Given the description of an element on the screen output the (x, y) to click on. 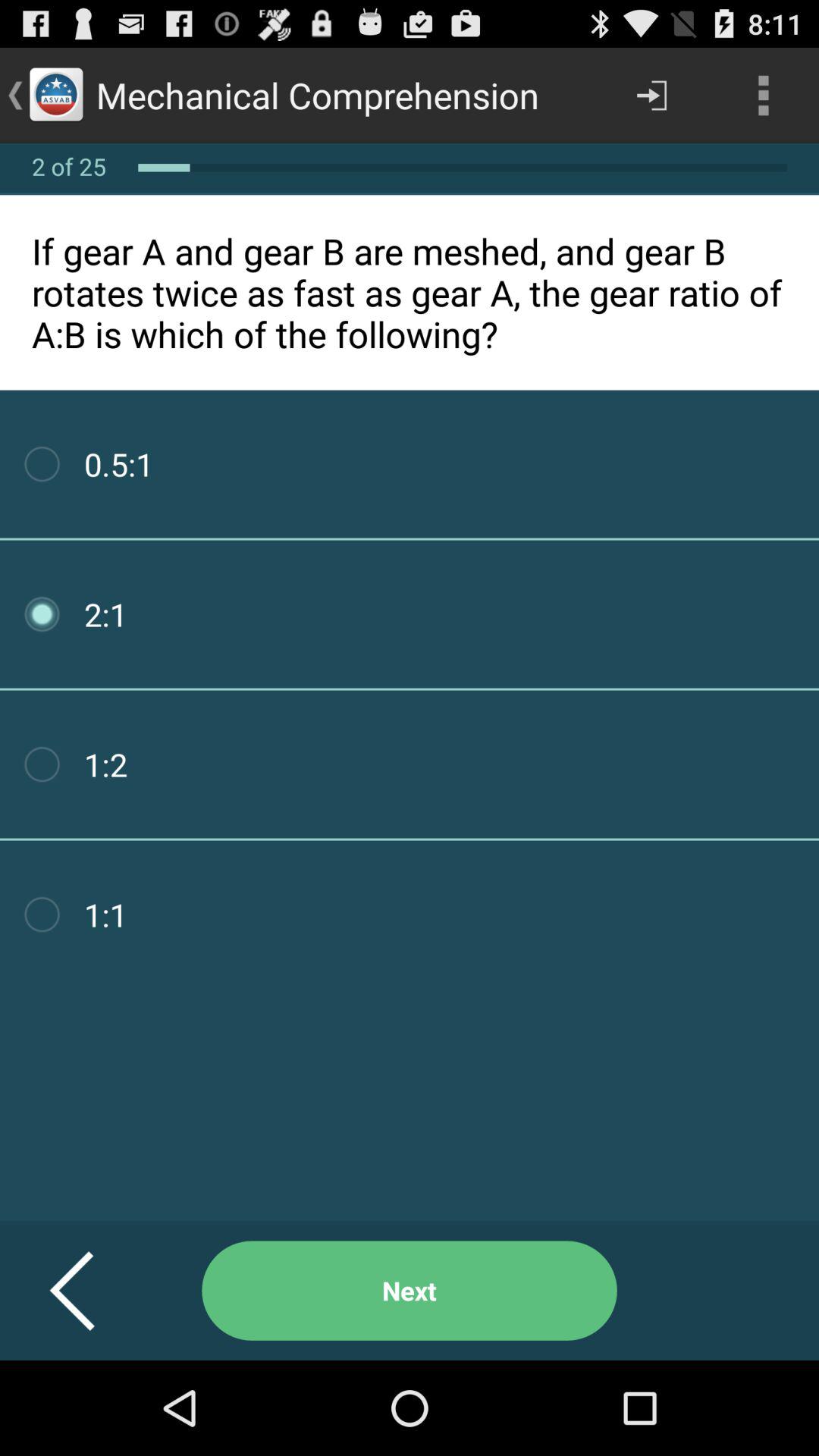
click next (409, 1290)
